Given the description of an element on the screen output the (x, y) to click on. 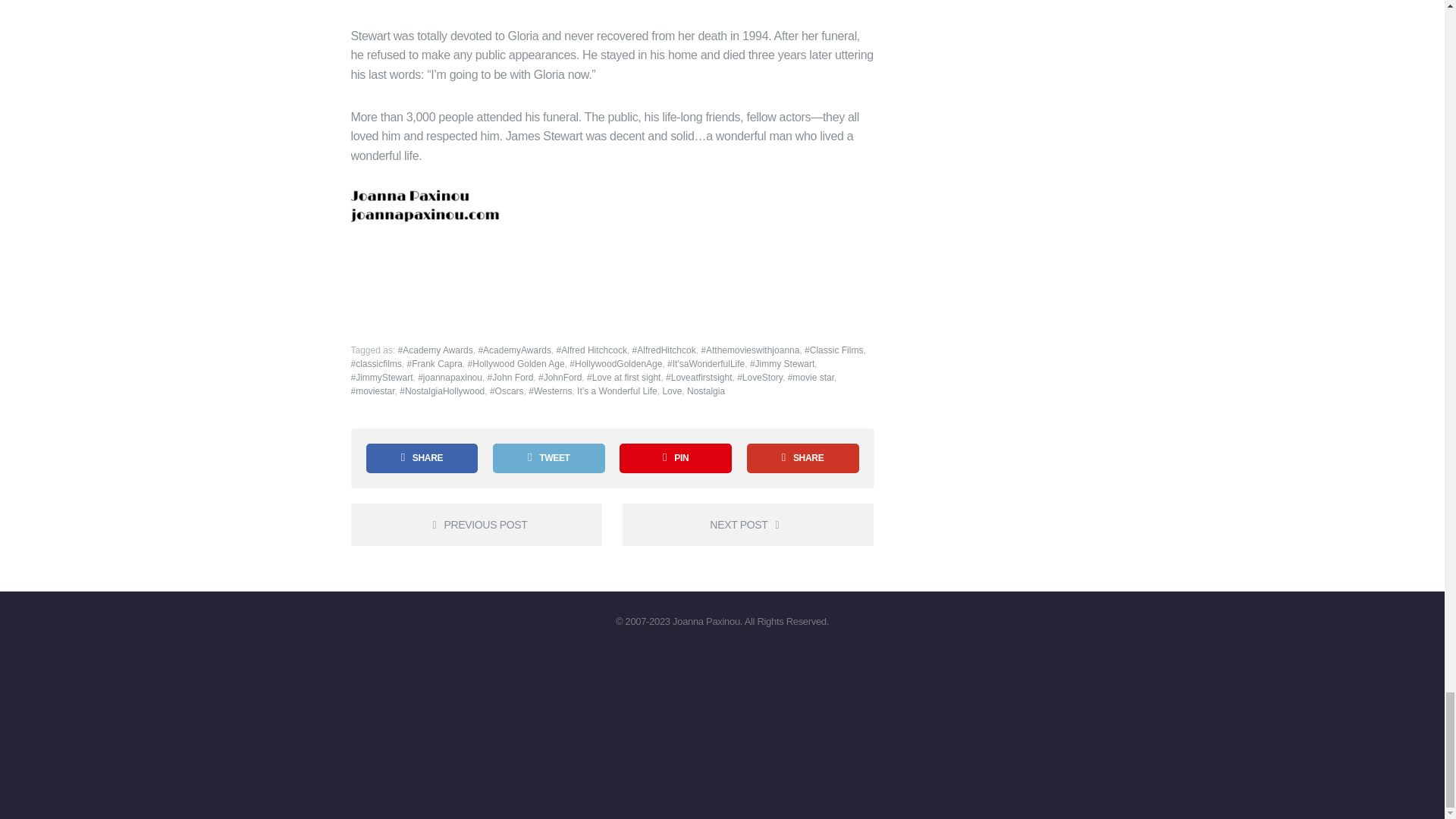
Pin This Post (676, 458)
Share on Facebook (421, 458)
Tweet This Post (549, 458)
